Given the description of an element on the screen output the (x, y) to click on. 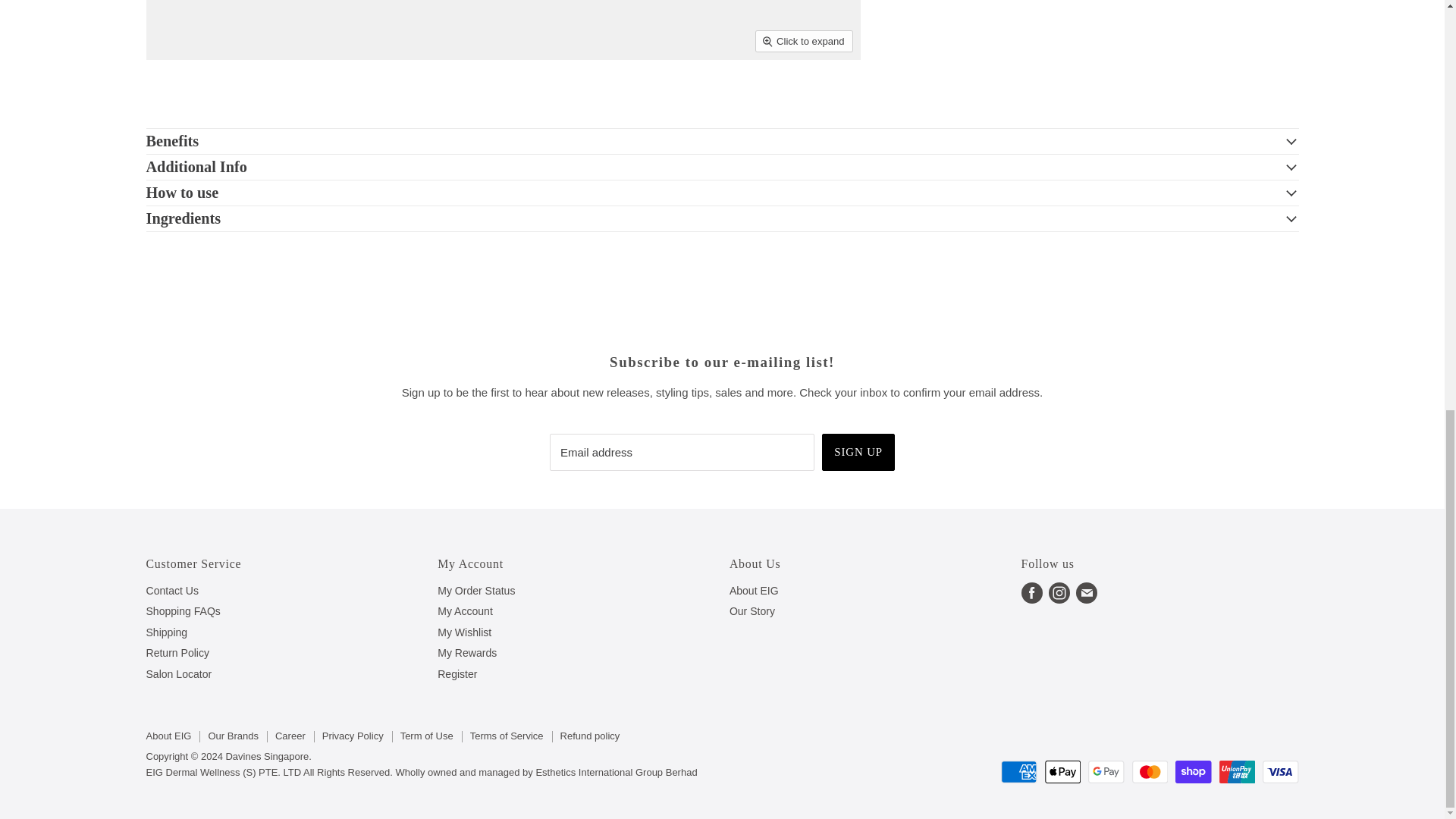
Facebook (1031, 592)
E-mail (1086, 592)
Instagram (1059, 592)
